Given the description of an element on the screen output the (x, y) to click on. 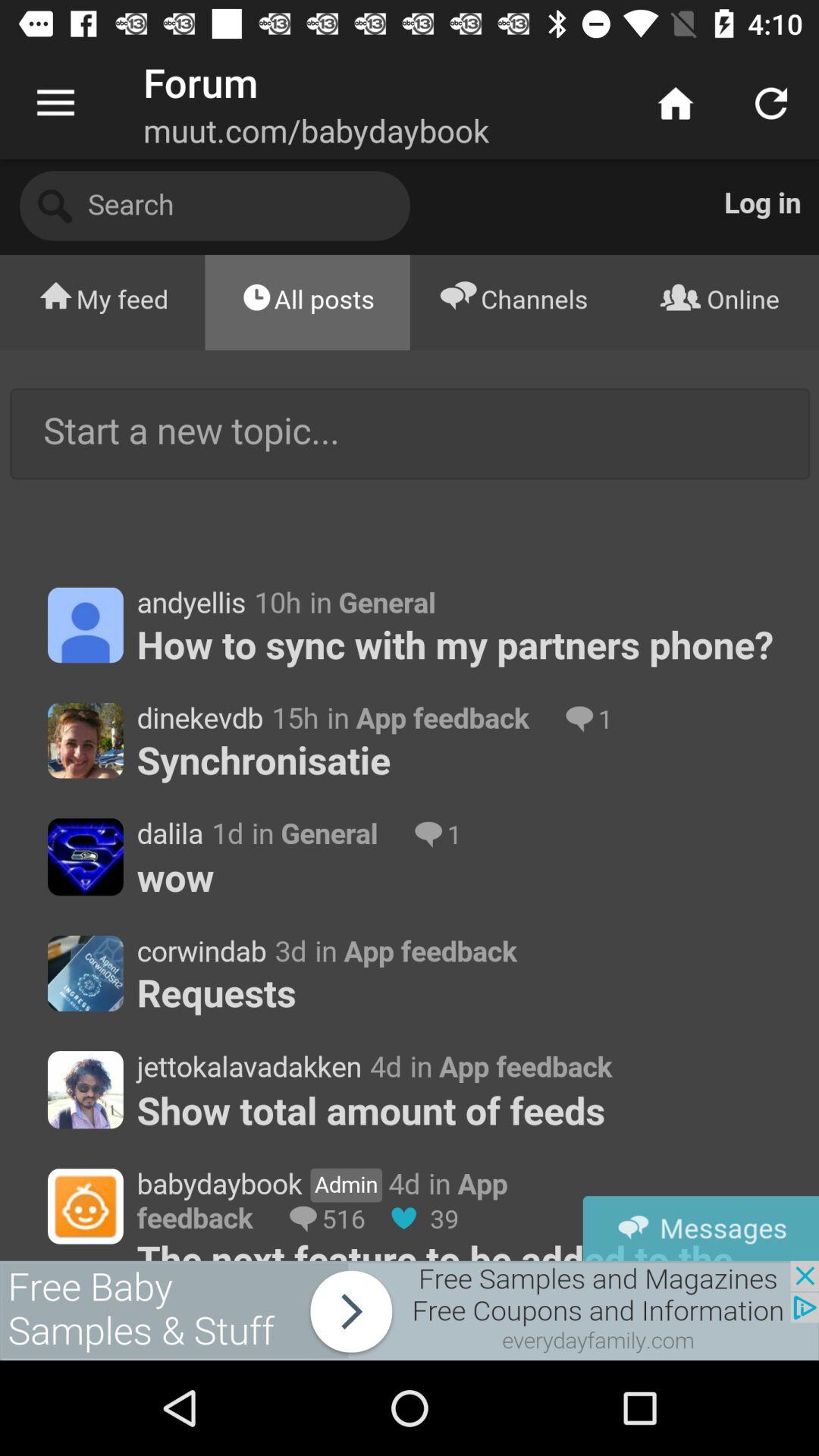
full page (409, 709)
